Given the description of an element on the screen output the (x, y) to click on. 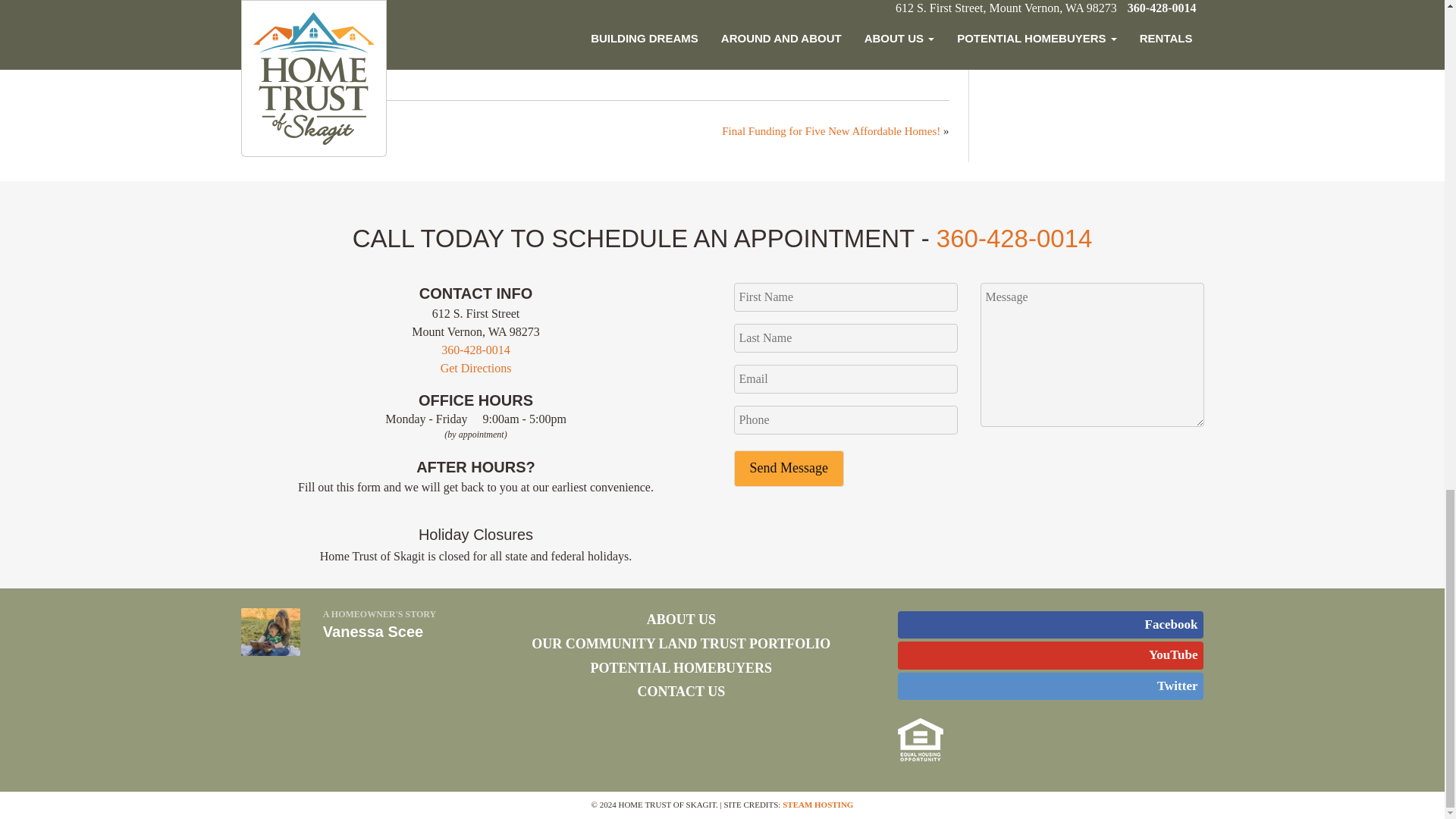
Send Message (788, 468)
Watch Videos from Home Trust of Skagit on YouTube (1051, 655)
Become a Fan of Home Trust of Skagit on Facebook (1051, 624)
Follow Home Trust of Skagit on Twitter (1051, 686)
Vanessa Scee (373, 631)
